Given the description of an element on the screen output the (x, y) to click on. 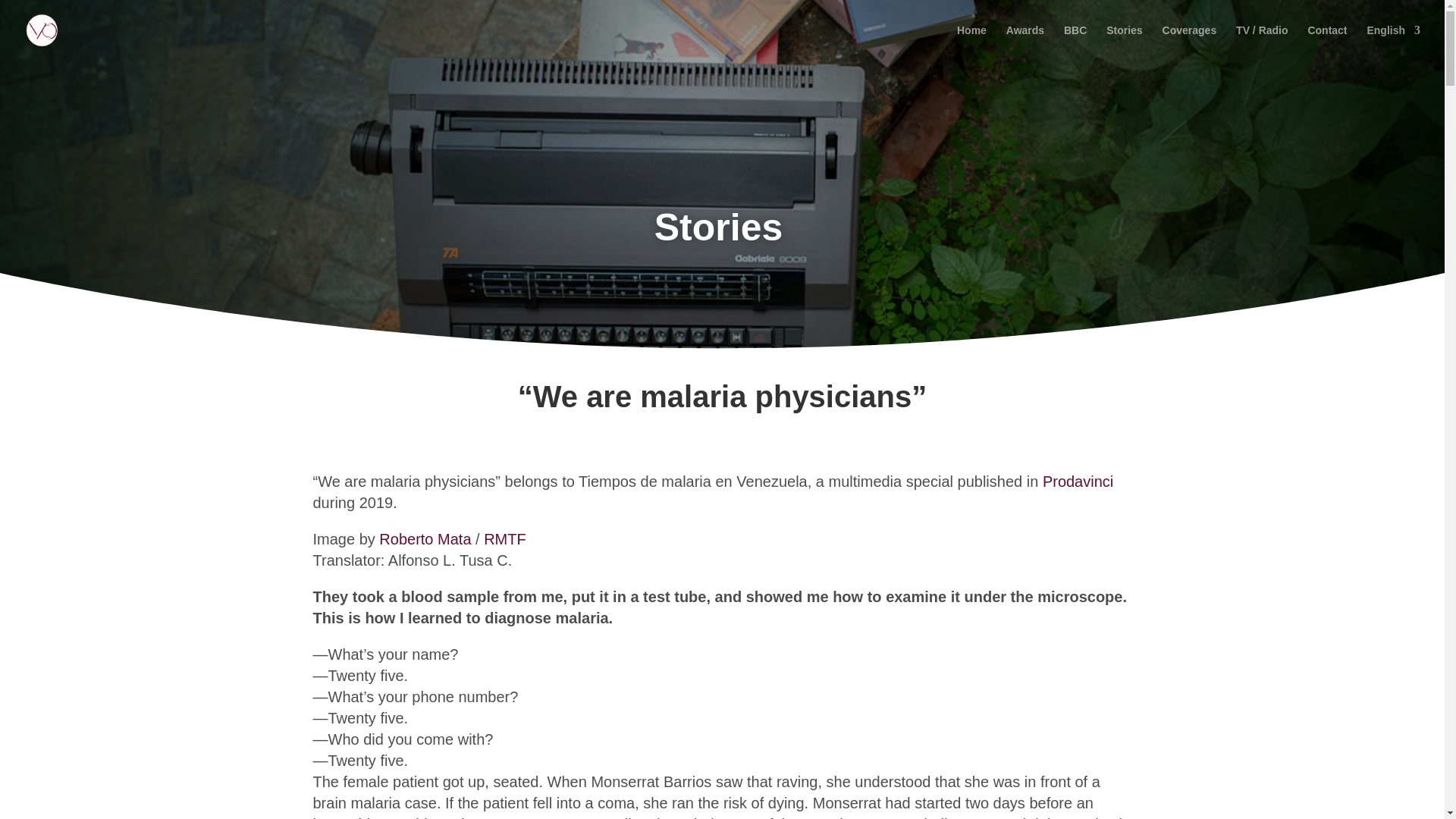
Contact (1326, 42)
Stories (1123, 42)
Prodavinci (1077, 481)
RMTF (504, 538)
Roberto Mata (424, 538)
English (1394, 42)
Awards (1024, 42)
Coverages (1189, 42)
English (1394, 42)
